Given the description of an element on the screen output the (x, y) to click on. 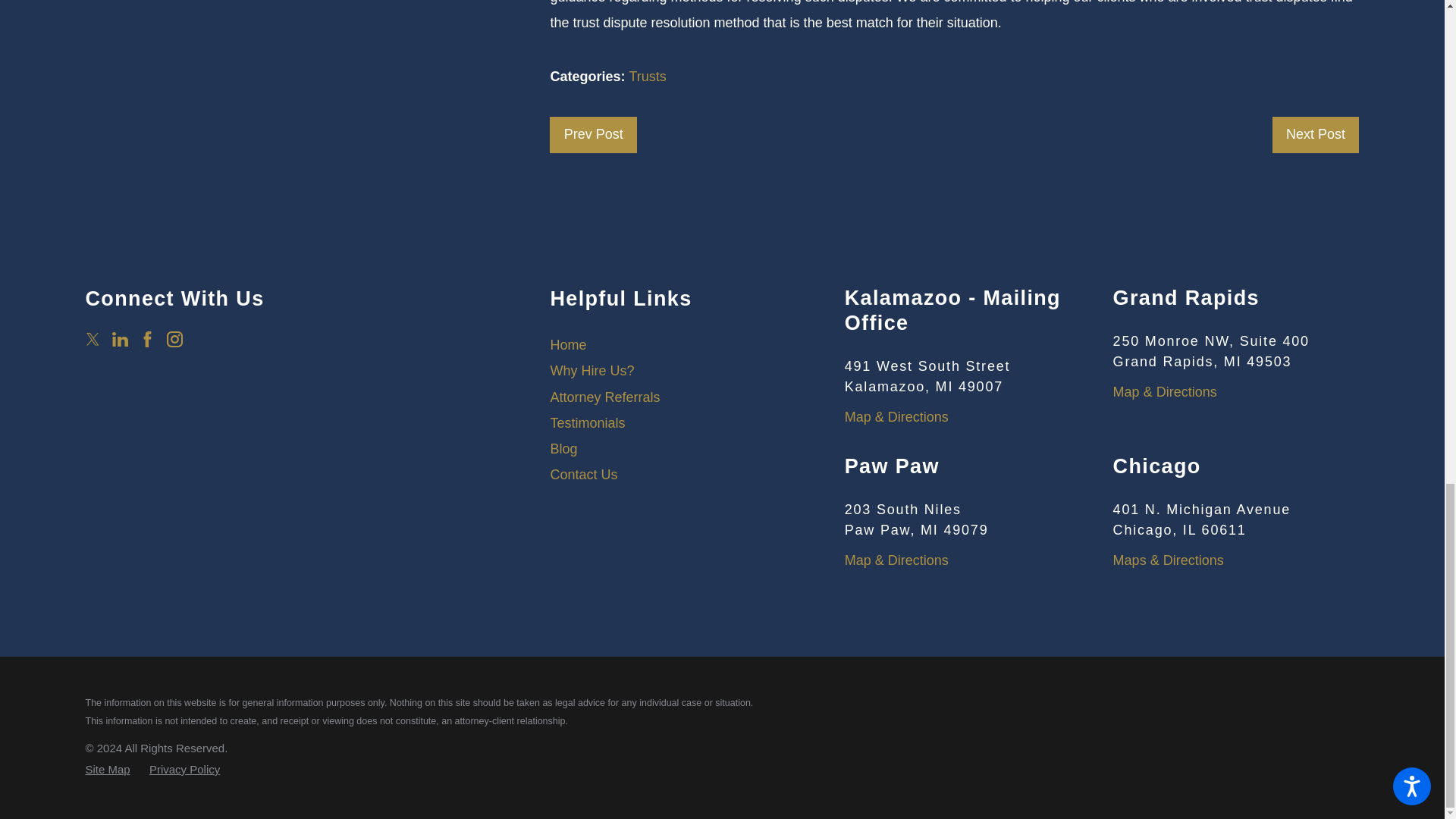
Instagram (175, 339)
LinkedIn (120, 339)
Facebook (147, 339)
Twitter (92, 339)
